Given the description of an element on the screen output the (x, y) to click on. 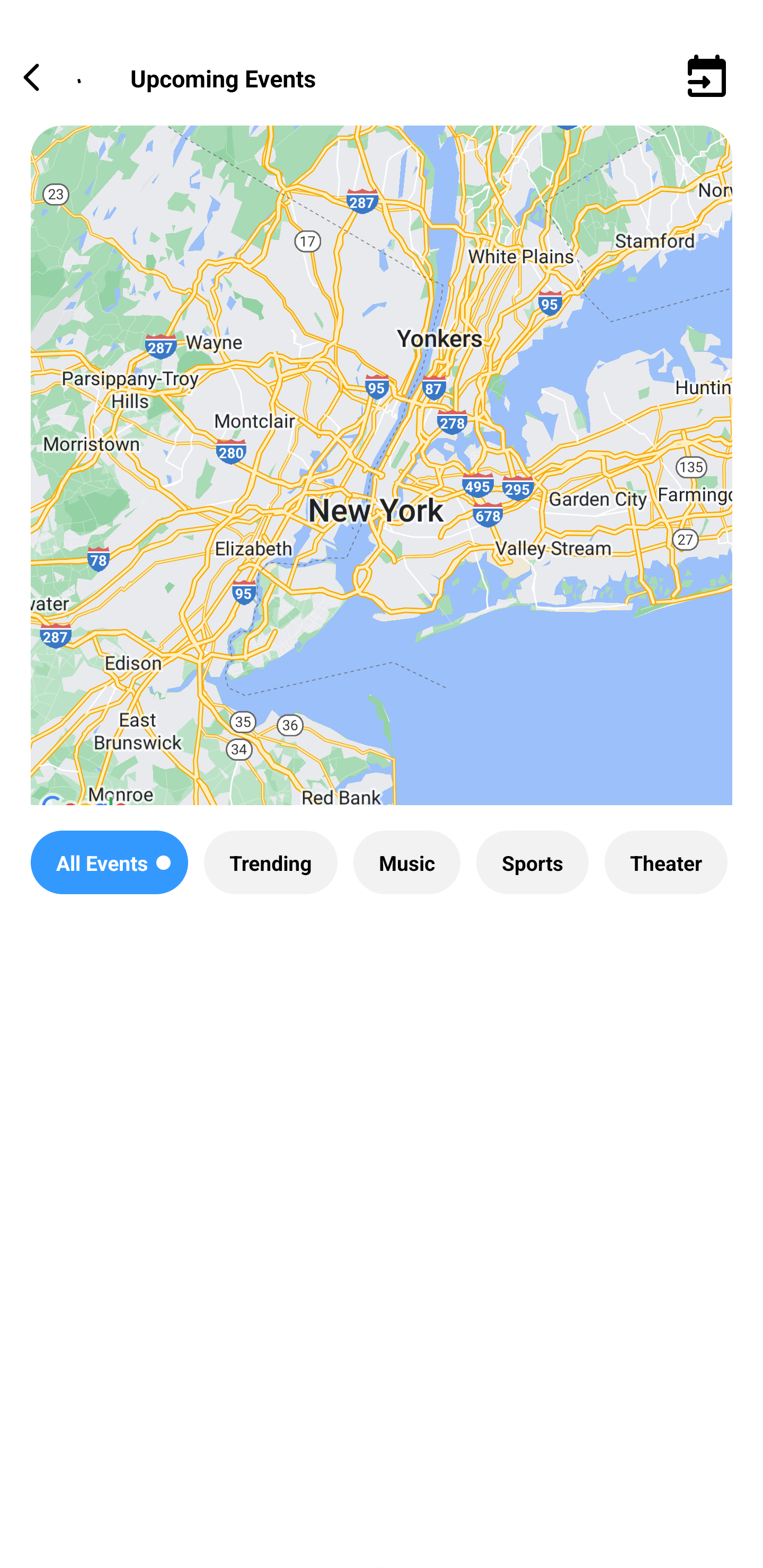
Google Map (381, 480)
All Events (109, 862)
Trending (270, 862)
Music (406, 862)
Sports (532, 862)
Theater (665, 862)
